Given the description of an element on the screen output the (x, y) to click on. 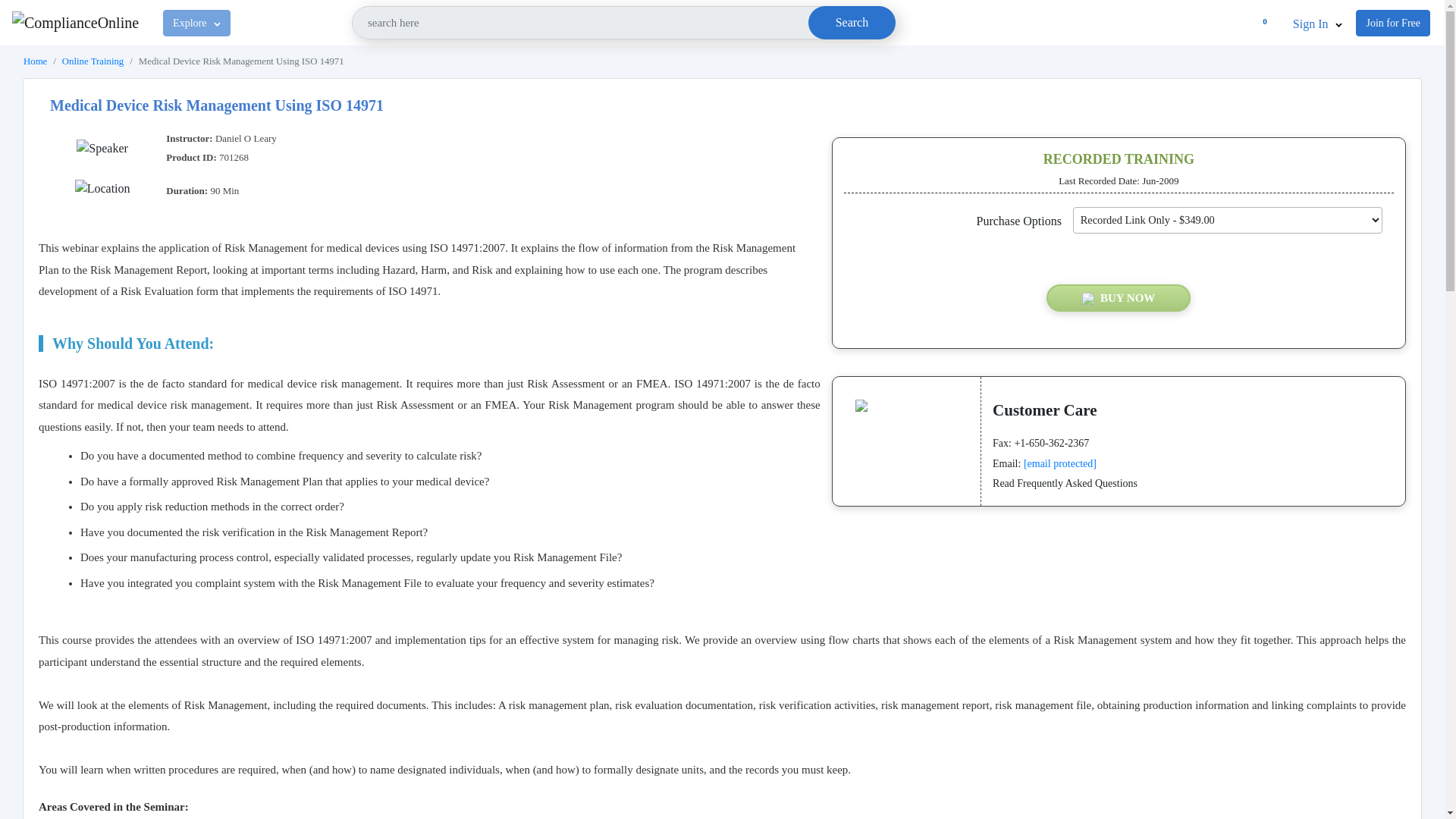
Explore (196, 22)
ComplianceOnline Home (34, 61)
Online Training (92, 61)
ComplianceOnline (74, 22)
